Given the description of an element on the screen output the (x, y) to click on. 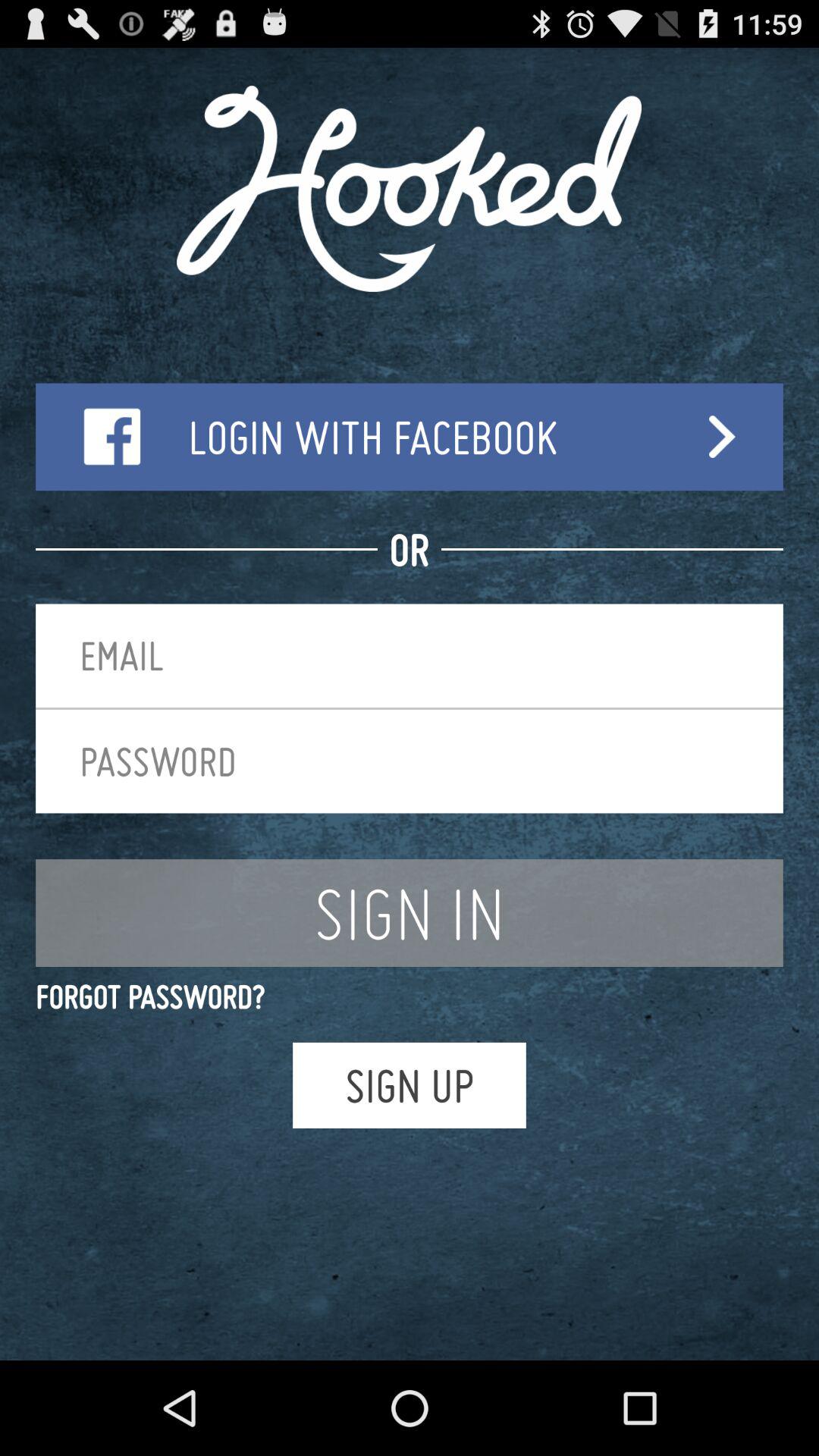
jump until sign up icon (409, 1085)
